Given the description of an element on the screen output the (x, y) to click on. 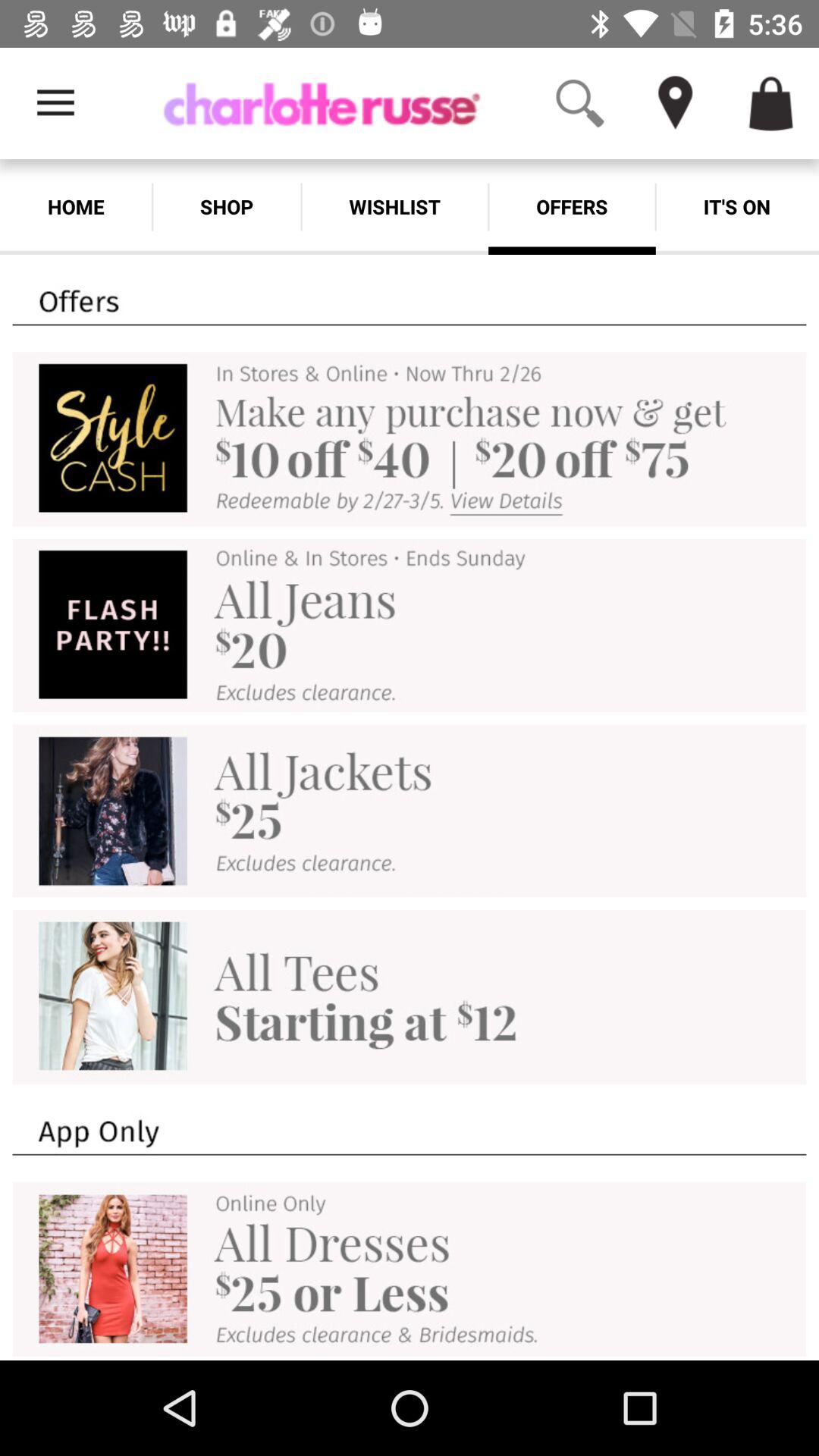
open app next to shop app (394, 206)
